Given the description of an element on the screen output the (x, y) to click on. 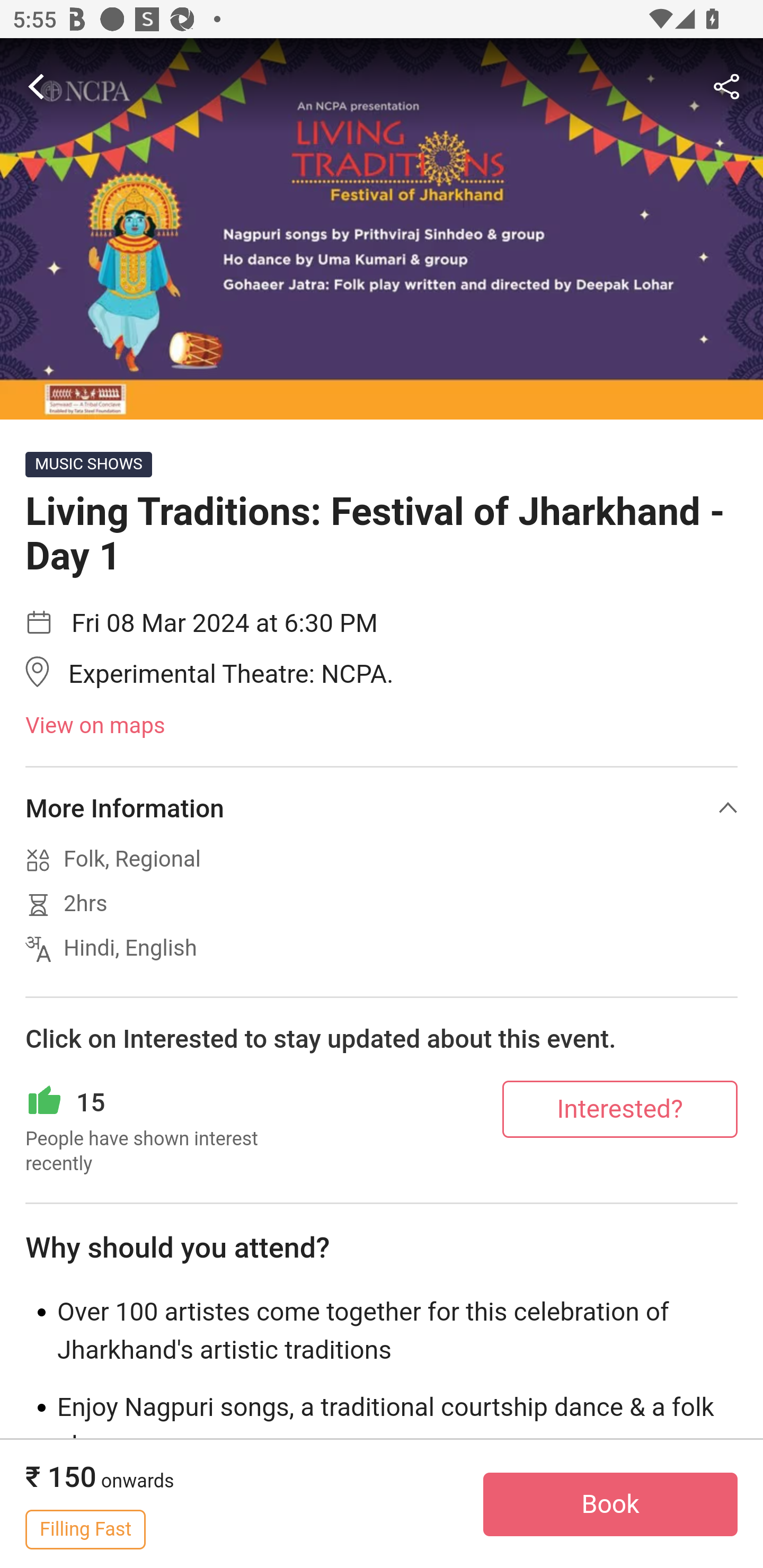
View on maps (381, 725)
More Information (381, 807)
Interested? (619, 1108)
Book (609, 1504)
